Given the description of an element on the screen output the (x, y) to click on. 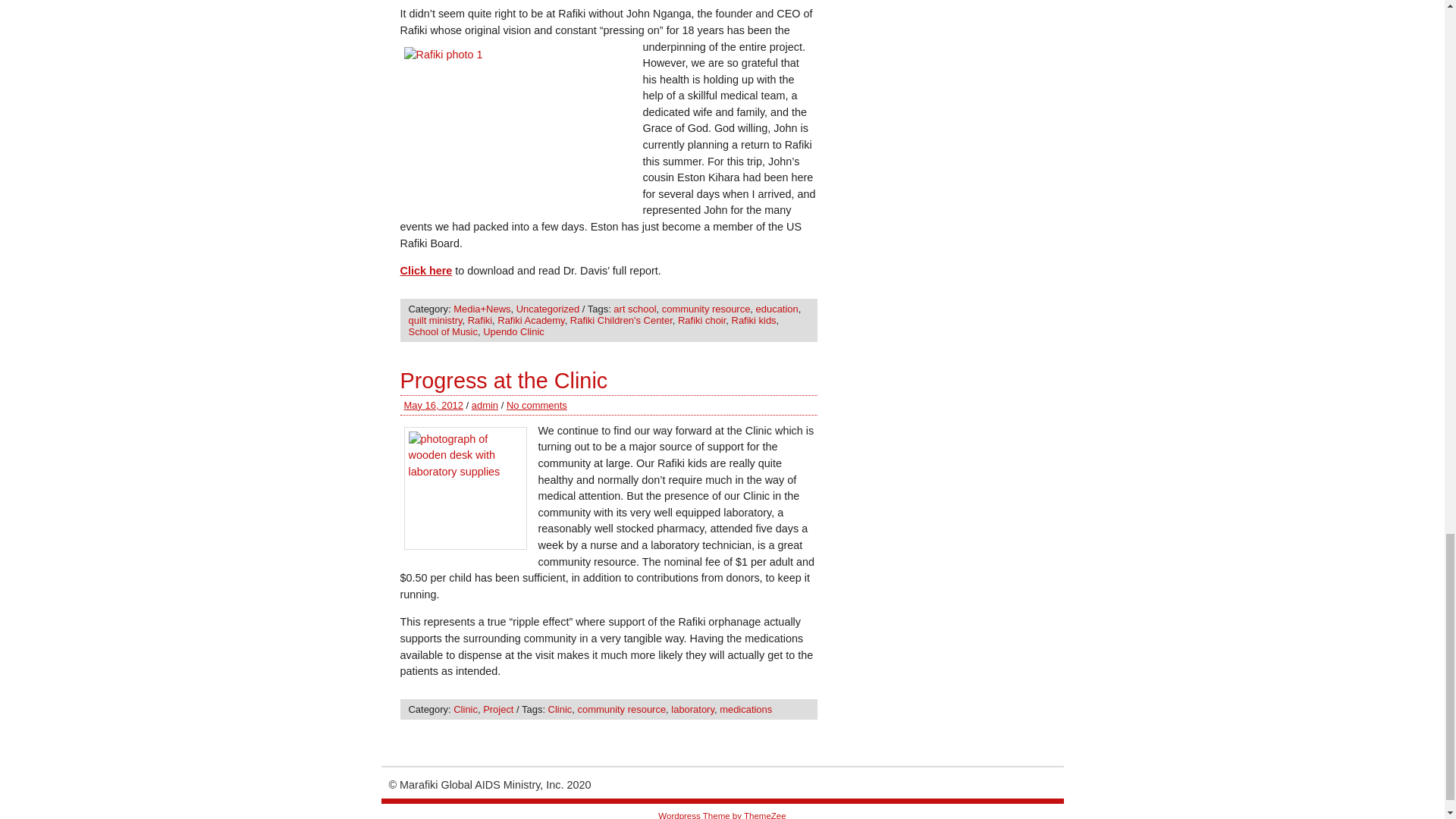
Posts by admin (484, 405)
